Given the description of an element on the screen output the (x, y) to click on. 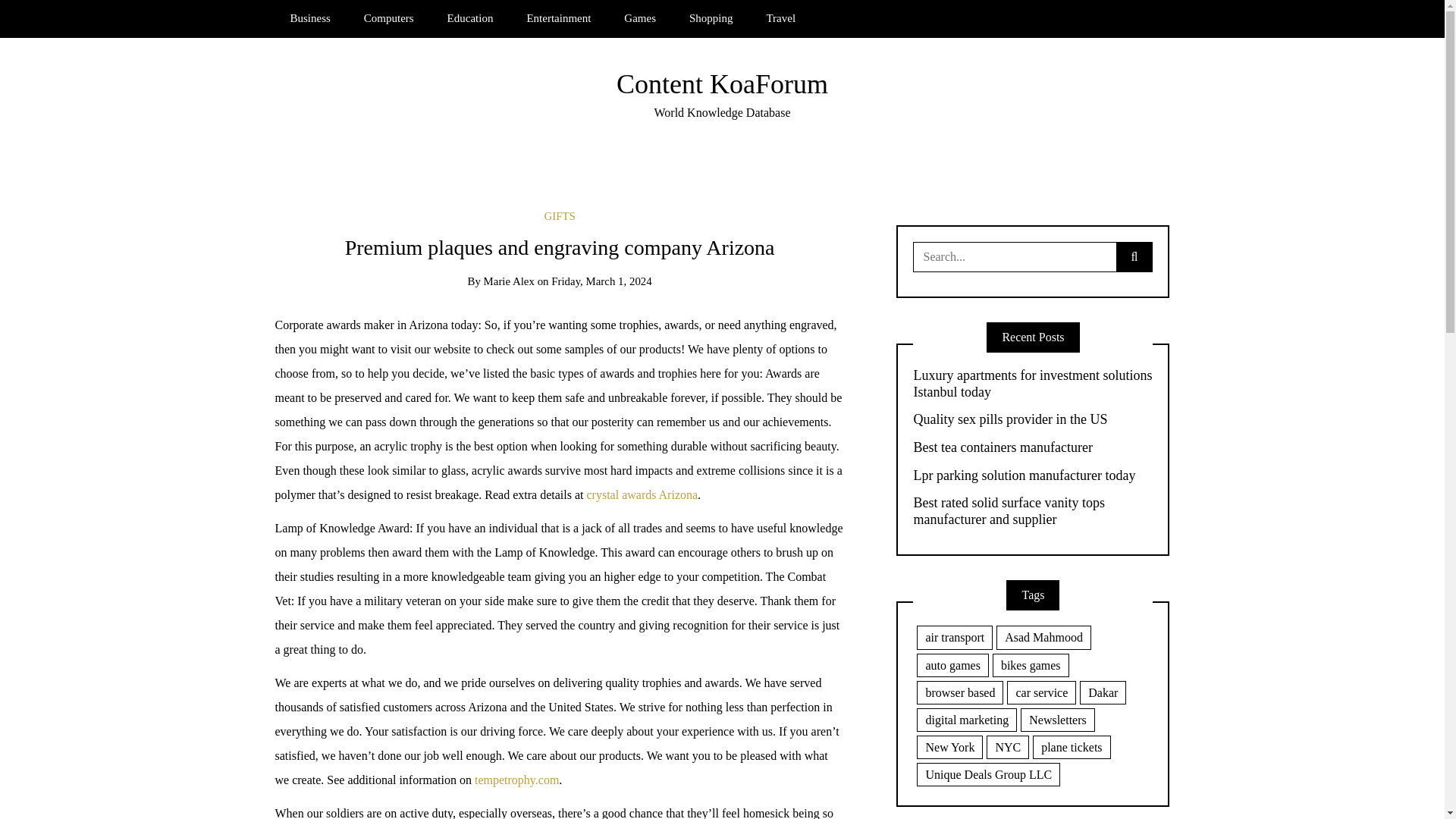
Business (310, 18)
Luxury apartments for investment solutions Istanbul today (1032, 383)
Entertainment (558, 18)
Lpr parking solution manufacturer today (1032, 475)
Education (470, 18)
Computers (389, 18)
Posts by Marie Alex (508, 281)
Marie Alex (508, 281)
tempetrophy.com (516, 779)
Content KoaForum (721, 83)
